Given the description of an element on the screen output the (x, y) to click on. 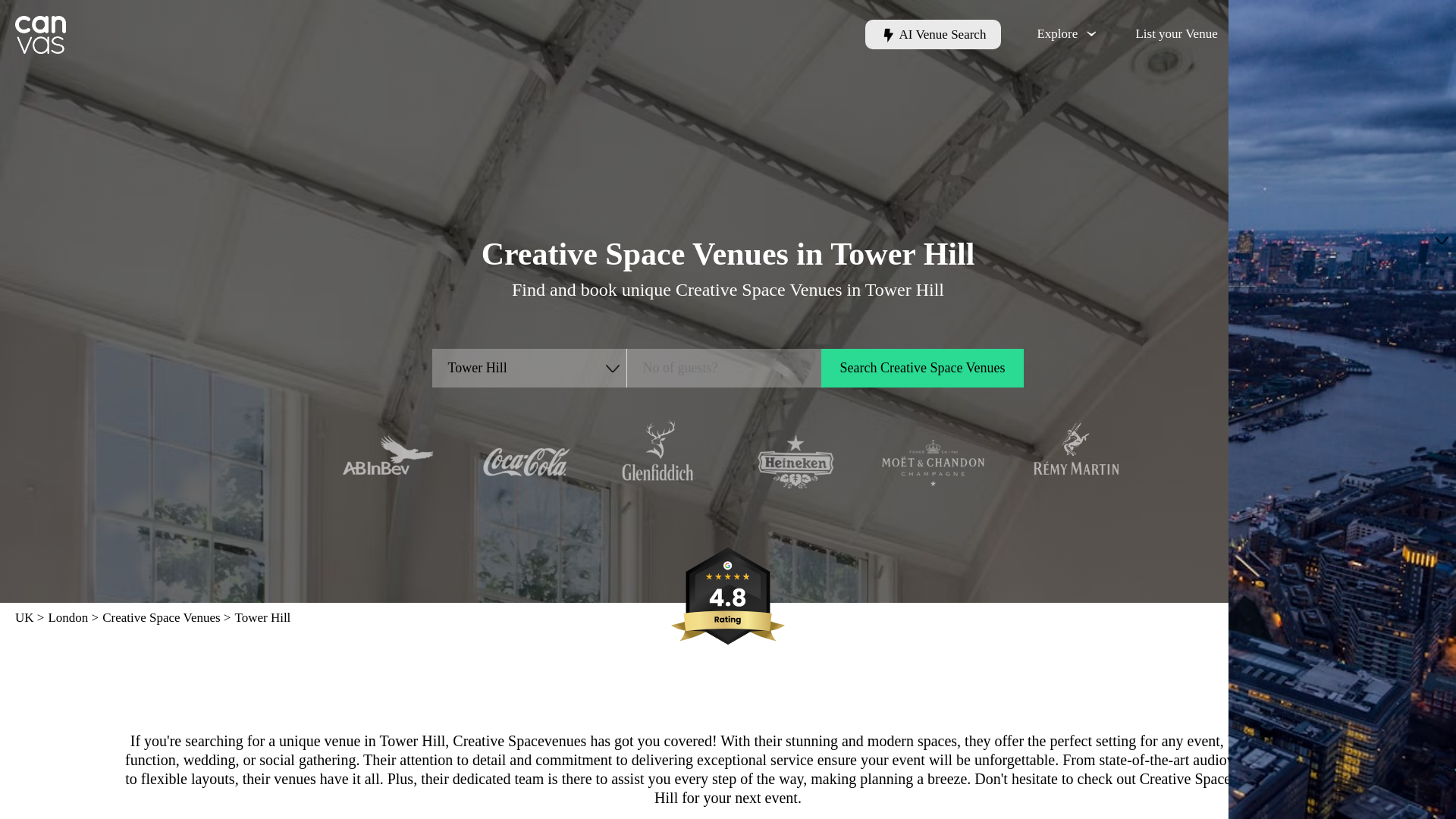
Venue Login (1275, 33)
Tower Hill (529, 367)
Wishlist (1382, 34)
List your Venue (1176, 33)
AI Venue Search (932, 34)
